Given the description of an element on the screen output the (x, y) to click on. 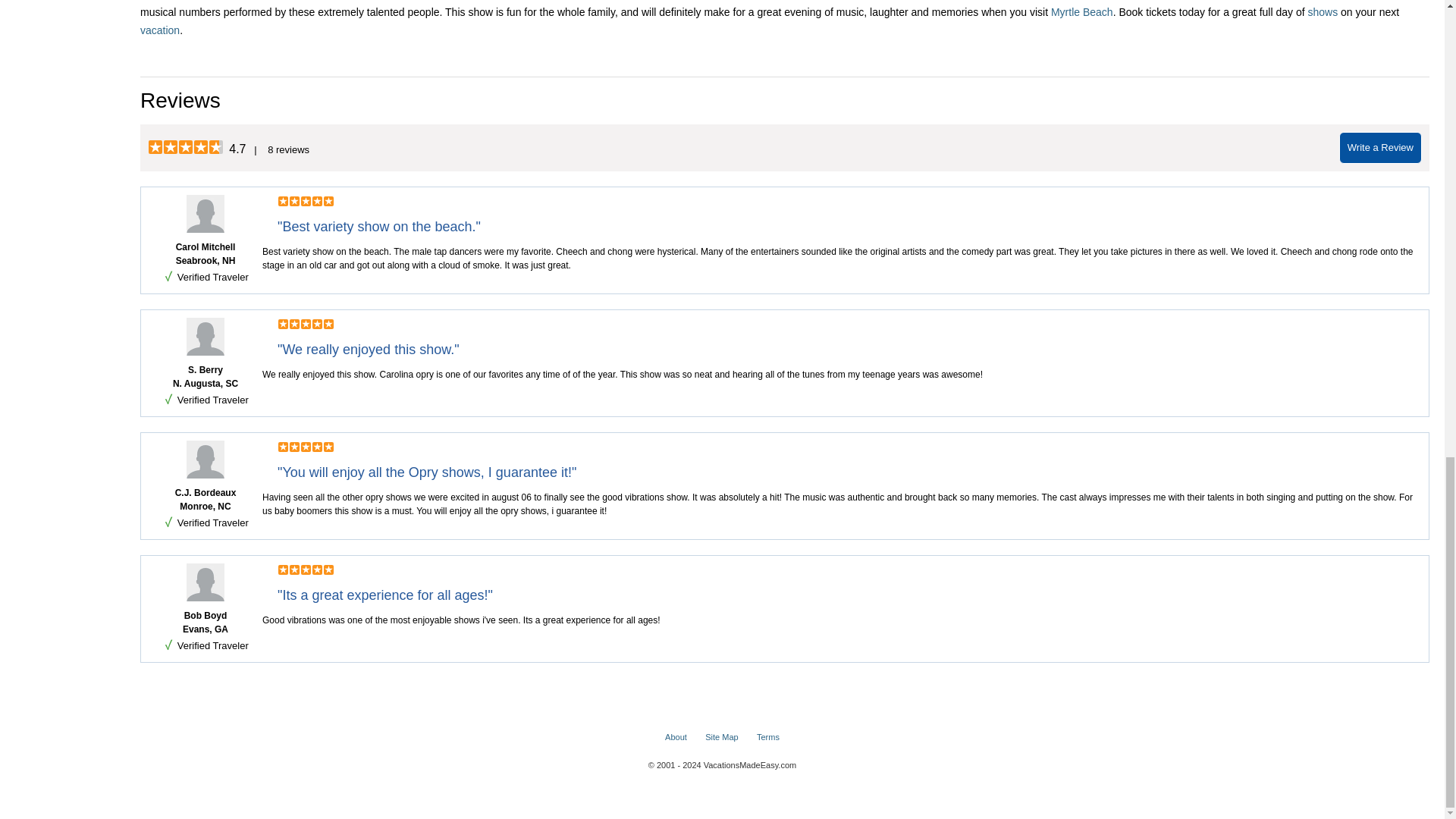
Write a Review (1380, 147)
Myrtle Beach (1082, 11)
shows (1322, 11)
Terms (767, 737)
About (676, 737)
vacation (159, 30)
Site Map (721, 737)
